Given the description of an element on the screen output the (x, y) to click on. 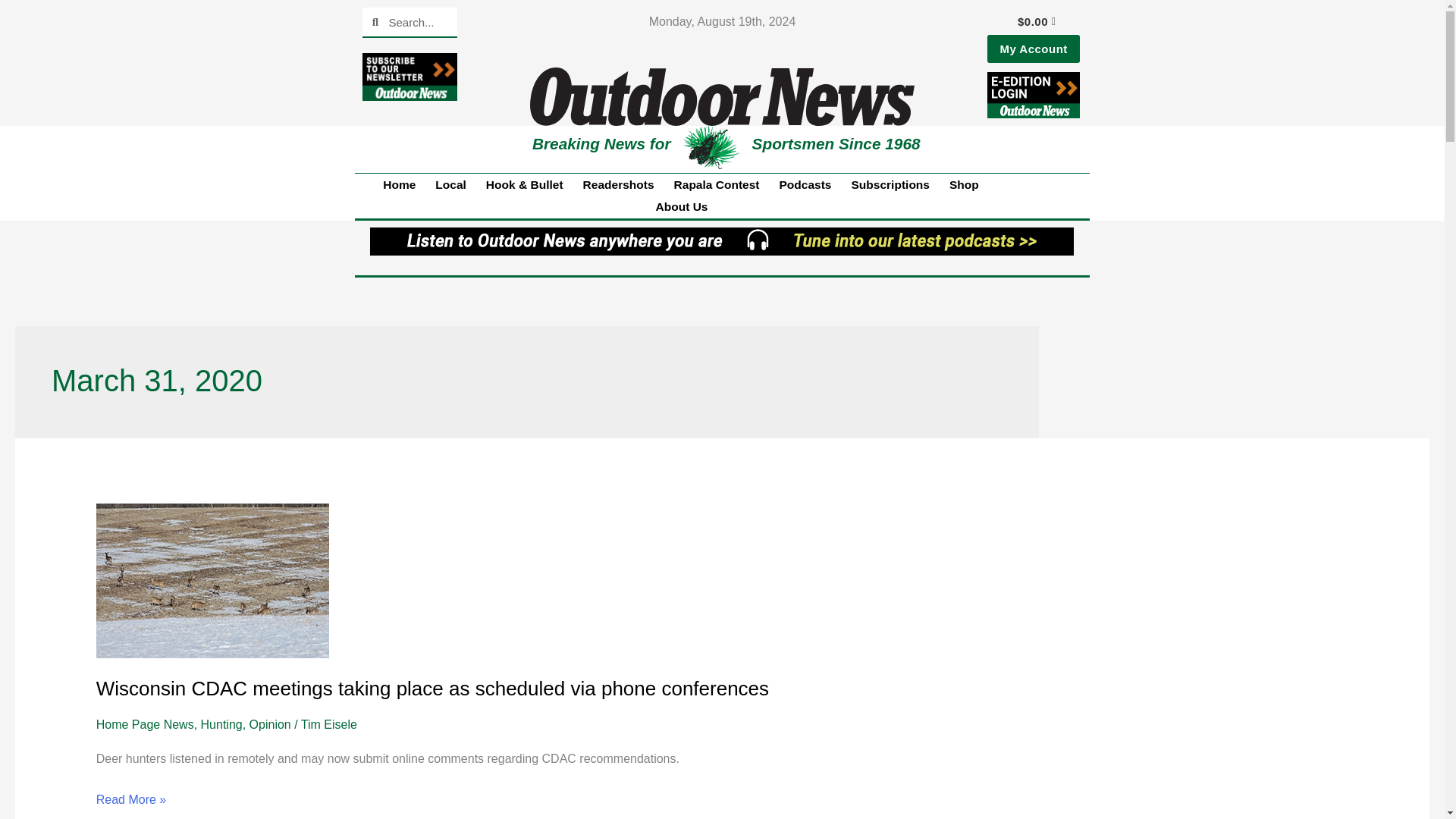
Readershots (618, 184)
Home (399, 184)
View all posts by Tim Eisele (328, 724)
Local (451, 184)
My Account (1033, 49)
